Given the description of an element on the screen output the (x, y) to click on. 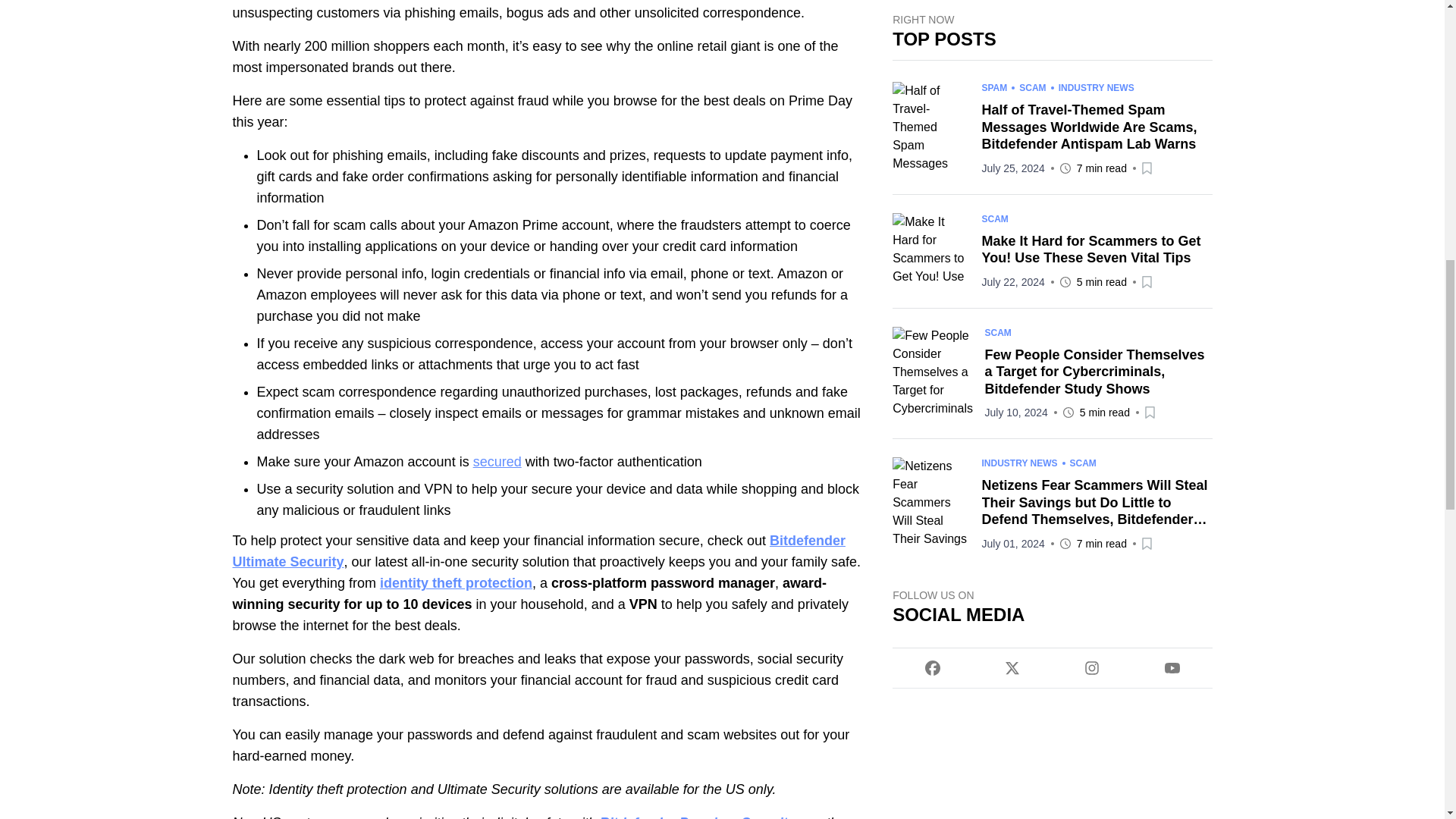
identity theft protection (456, 582)
Bitdefender Premium Security (696, 816)
Bitdefender Ultimate Security (537, 551)
secured (497, 461)
